Given the description of an element on the screen output the (x, y) to click on. 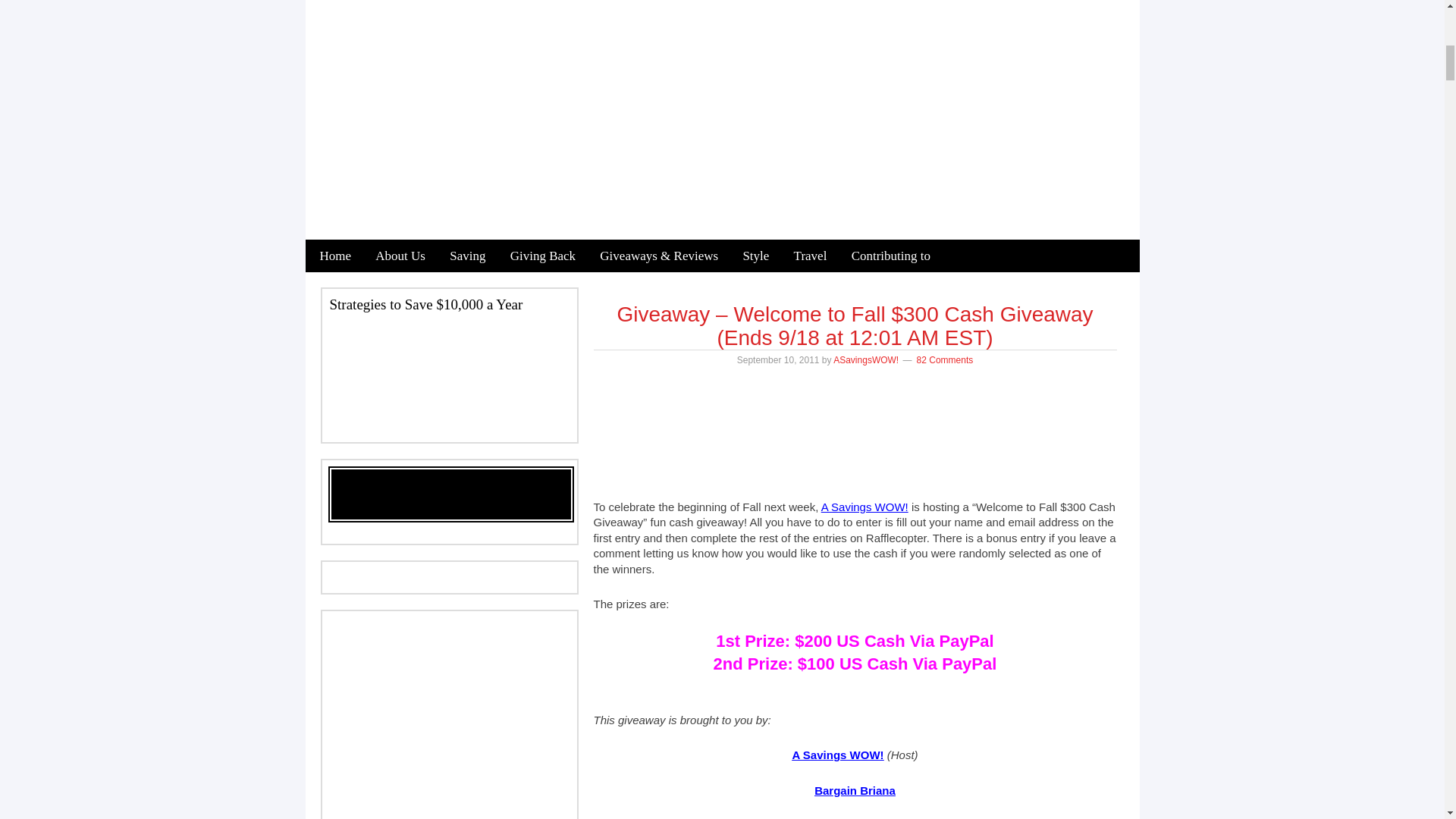
A Savings WOW! (837, 754)
A Savings WOW! (864, 506)
Bargain Briana (854, 789)
